Given the description of an element on the screen output the (x, y) to click on. 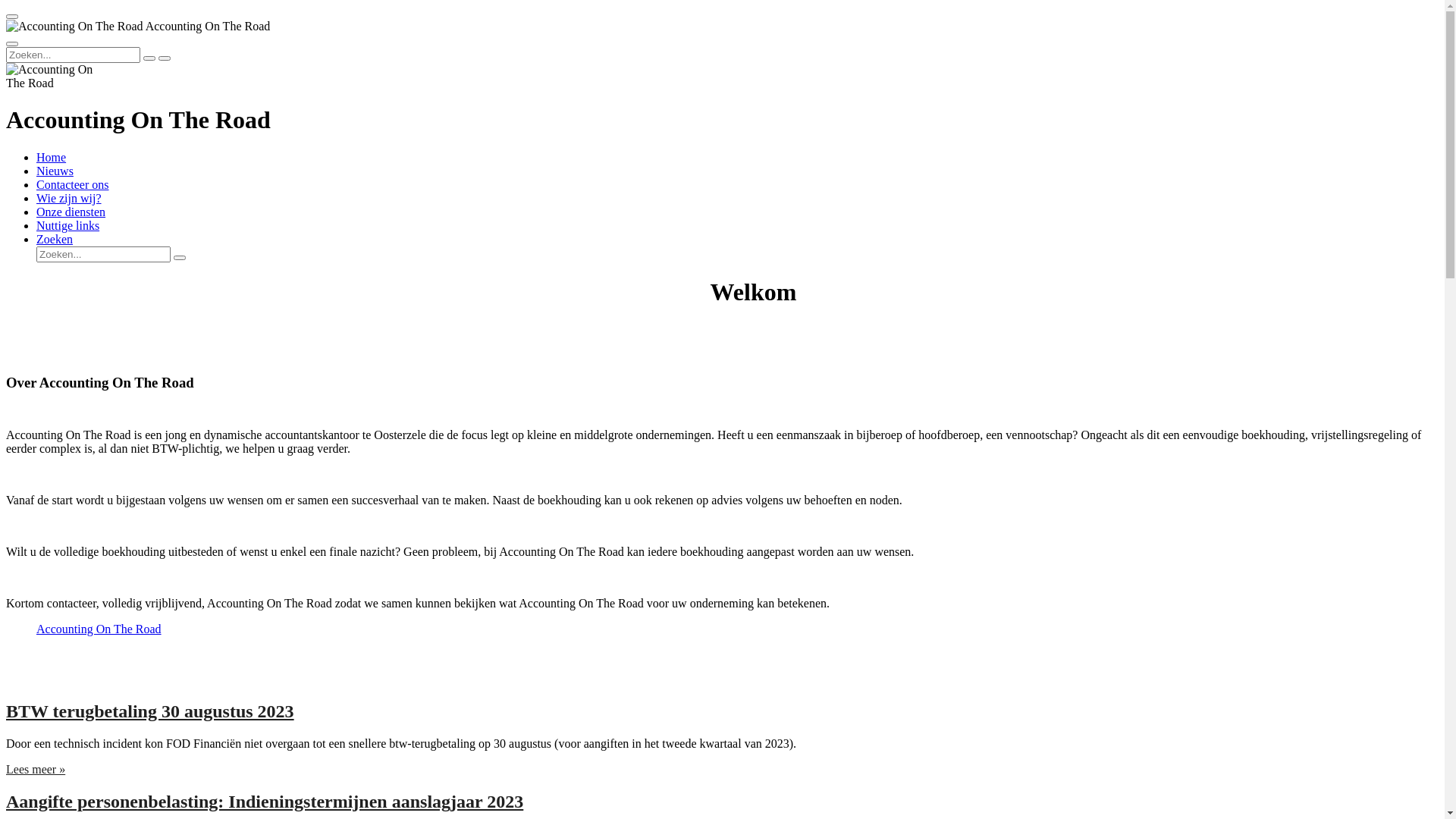
Wie zijn wij? Element type: text (68, 197)
Onze diensten Element type: text (70, 211)
Zoeken Element type: text (54, 238)
BTW terugbetaling 30 augustus 2023 Element type: text (150, 711)
Nuttige links Element type: text (67, 225)
Accounting On The Road Element type: text (98, 628)
Accounting On The Road Element type: hover (74, 26)
Contacteer ons Element type: text (72, 184)
Accounting On The Road Element type: hover (56, 76)
Nieuws Element type: text (54, 170)
Home Element type: text (50, 156)
